Given the description of an element on the screen output the (x, y) to click on. 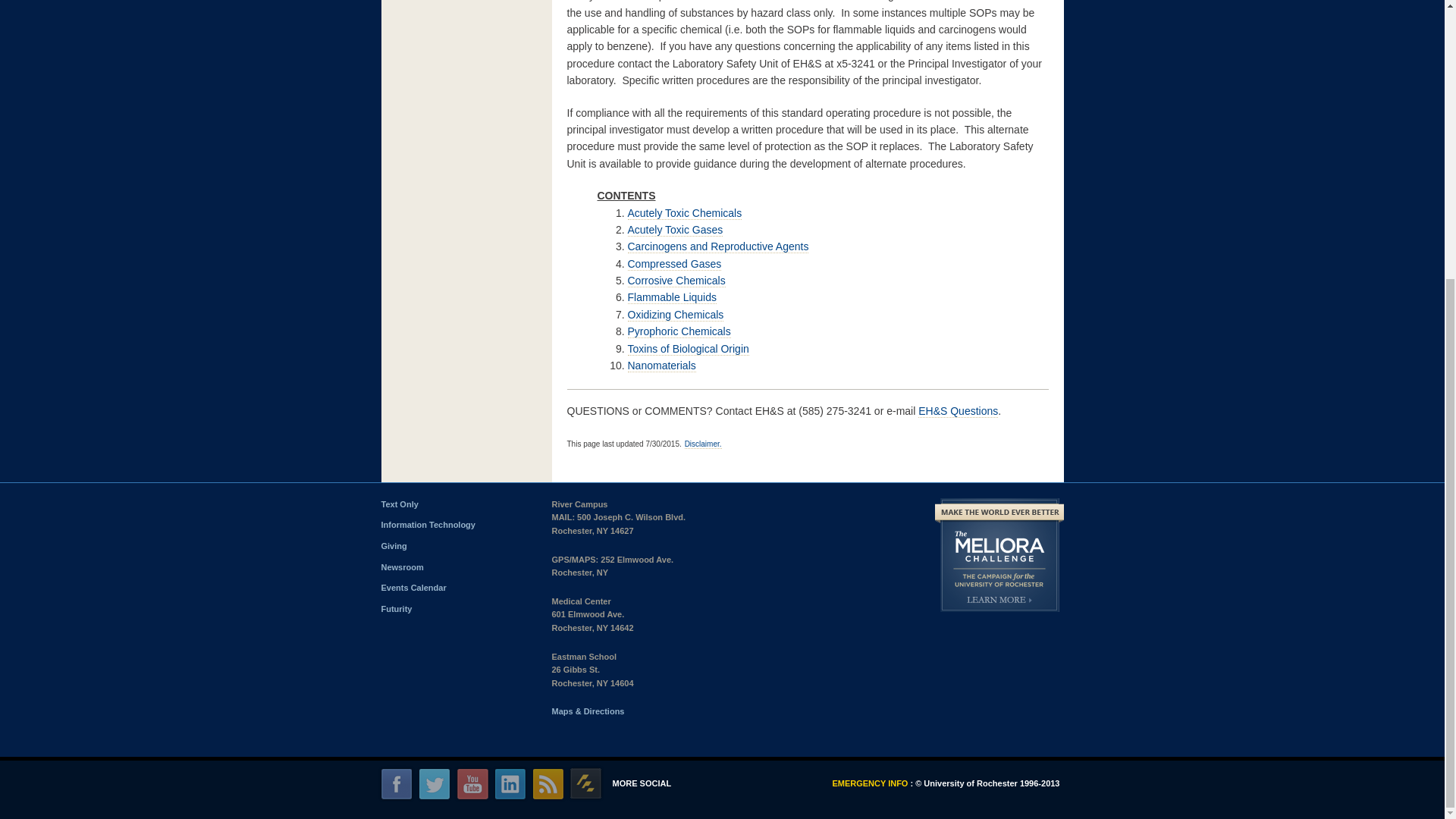
Flammable Liquids (672, 297)
Compressed Gases (674, 264)
Acutely Toxic Gases (675, 229)
Carcinogens and Reproductive Agents (718, 246)
Corrosive Chemicals (676, 280)
Acutely Toxic Chemicals (684, 213)
